Given the description of an element on the screen output the (x, y) to click on. 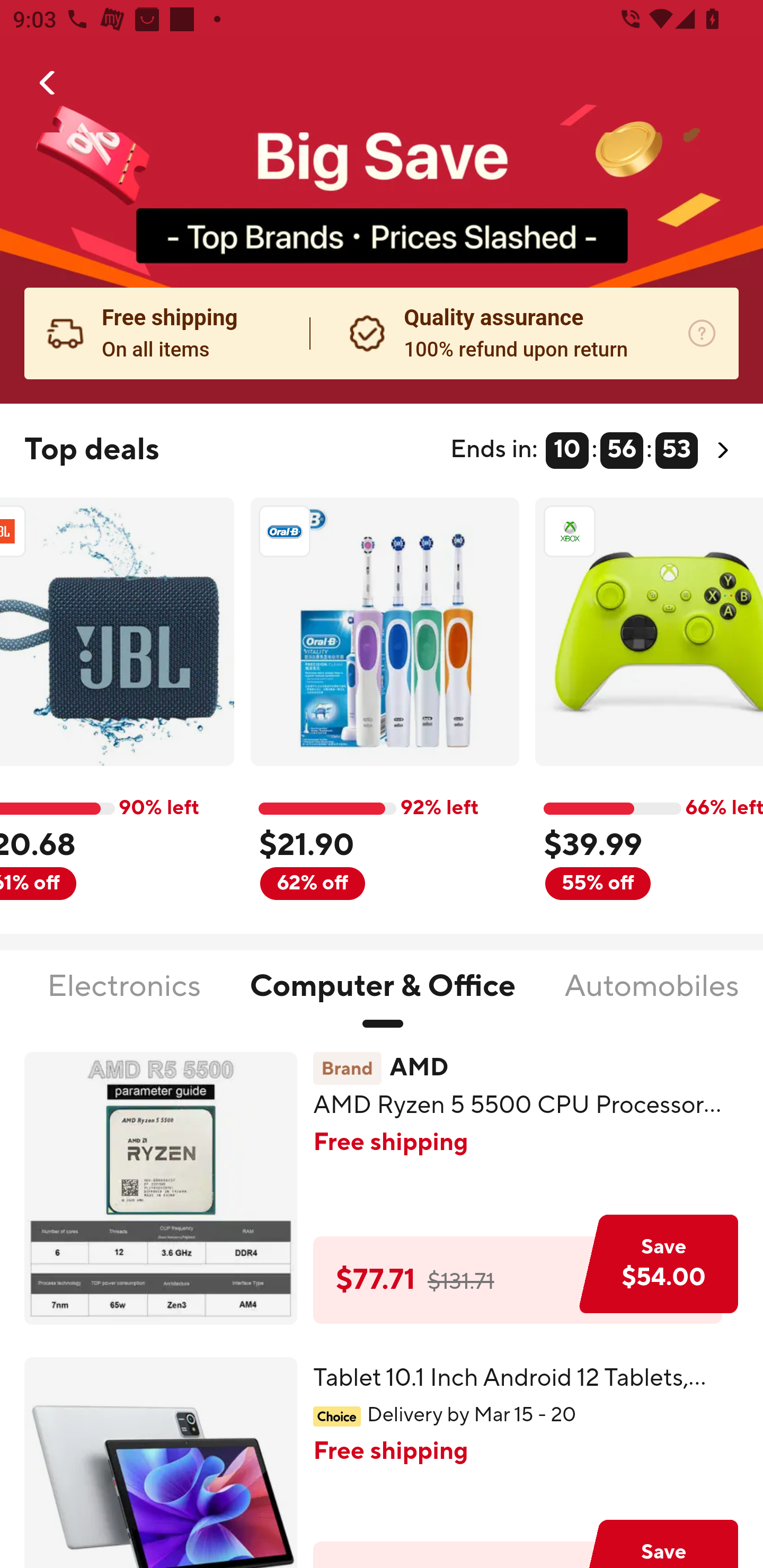
 (48, 82)
Electronics (123, 996)
Computer & Office (382, 996)
Automobiles (651, 996)
